Given the description of an element on the screen output the (x, y) to click on. 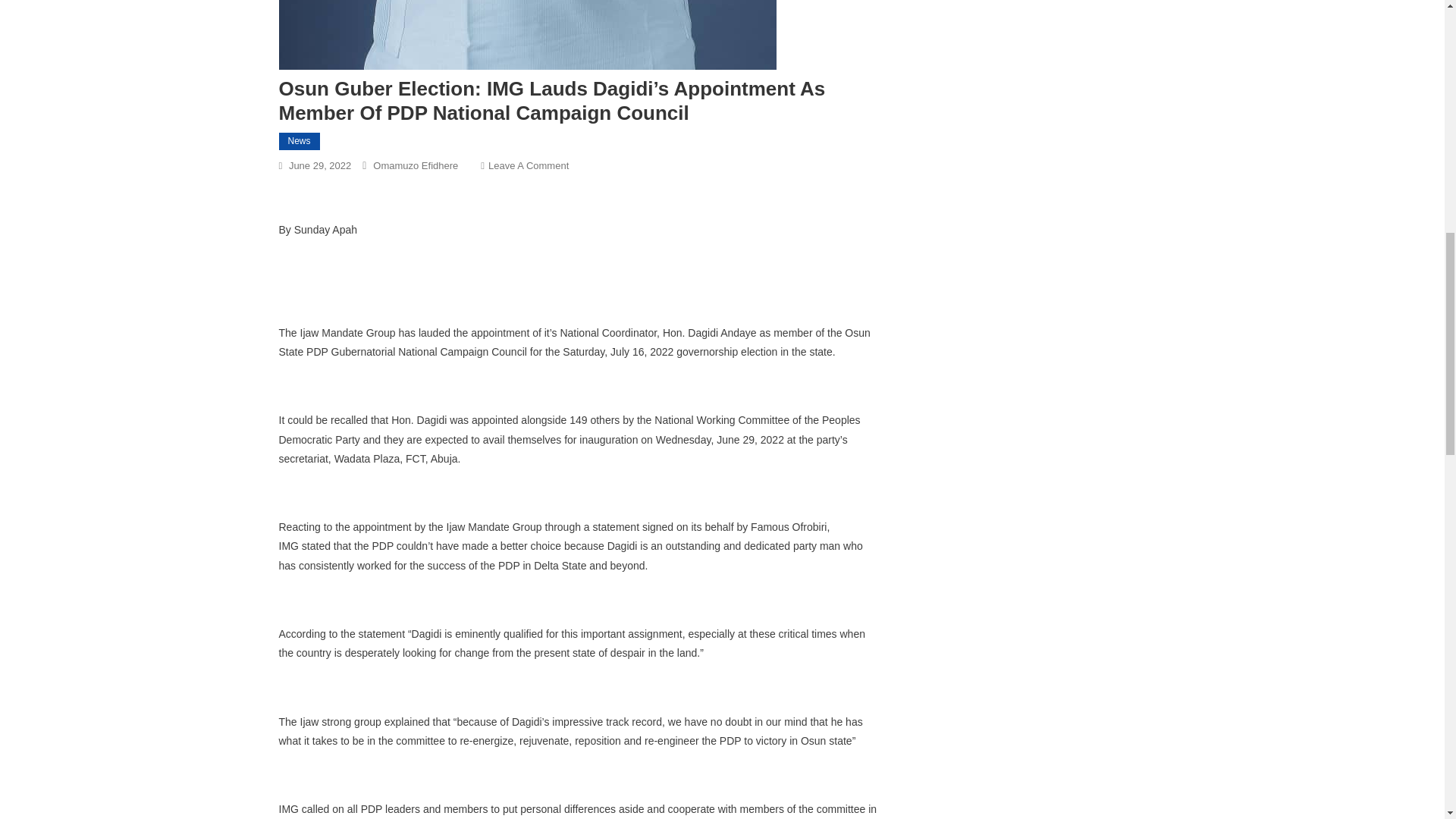
News (299, 141)
Omamuzo Efidhere (415, 165)
June 29, 2022 (319, 165)
